Given the description of an element on the screen output the (x, y) to click on. 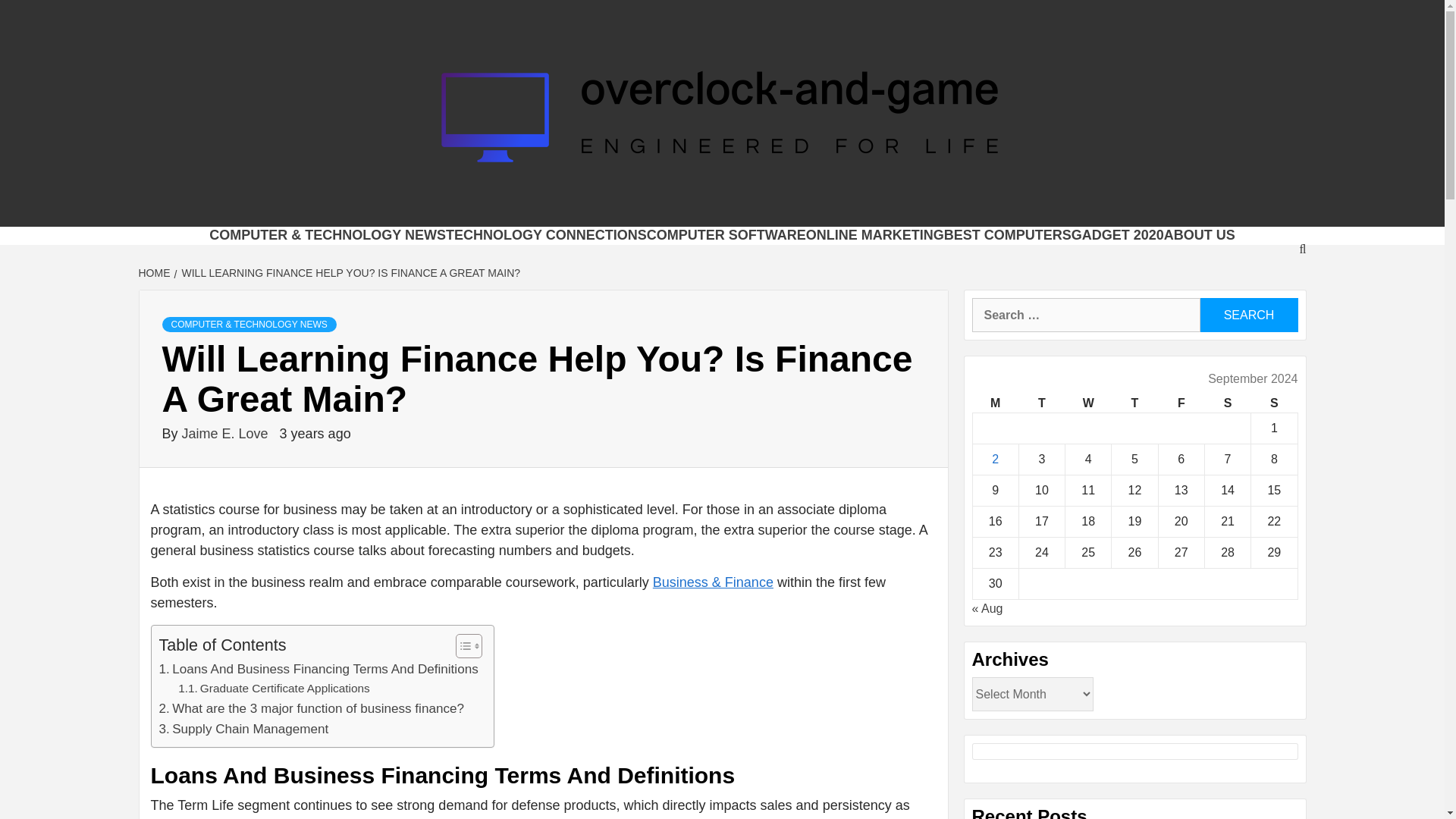
Monday (994, 403)
TECHNOLOGY CONNECTIONS (545, 234)
ABOUT US (1198, 234)
Tuesday (1040, 403)
Jaime E. Love (227, 433)
Friday (1180, 403)
HOME (155, 272)
Saturday (1227, 403)
Loans And Business Financing Terms And Definitions (318, 669)
OVERCLOCK-AND-GAME (604, 207)
